Given the description of an element on the screen output the (x, y) to click on. 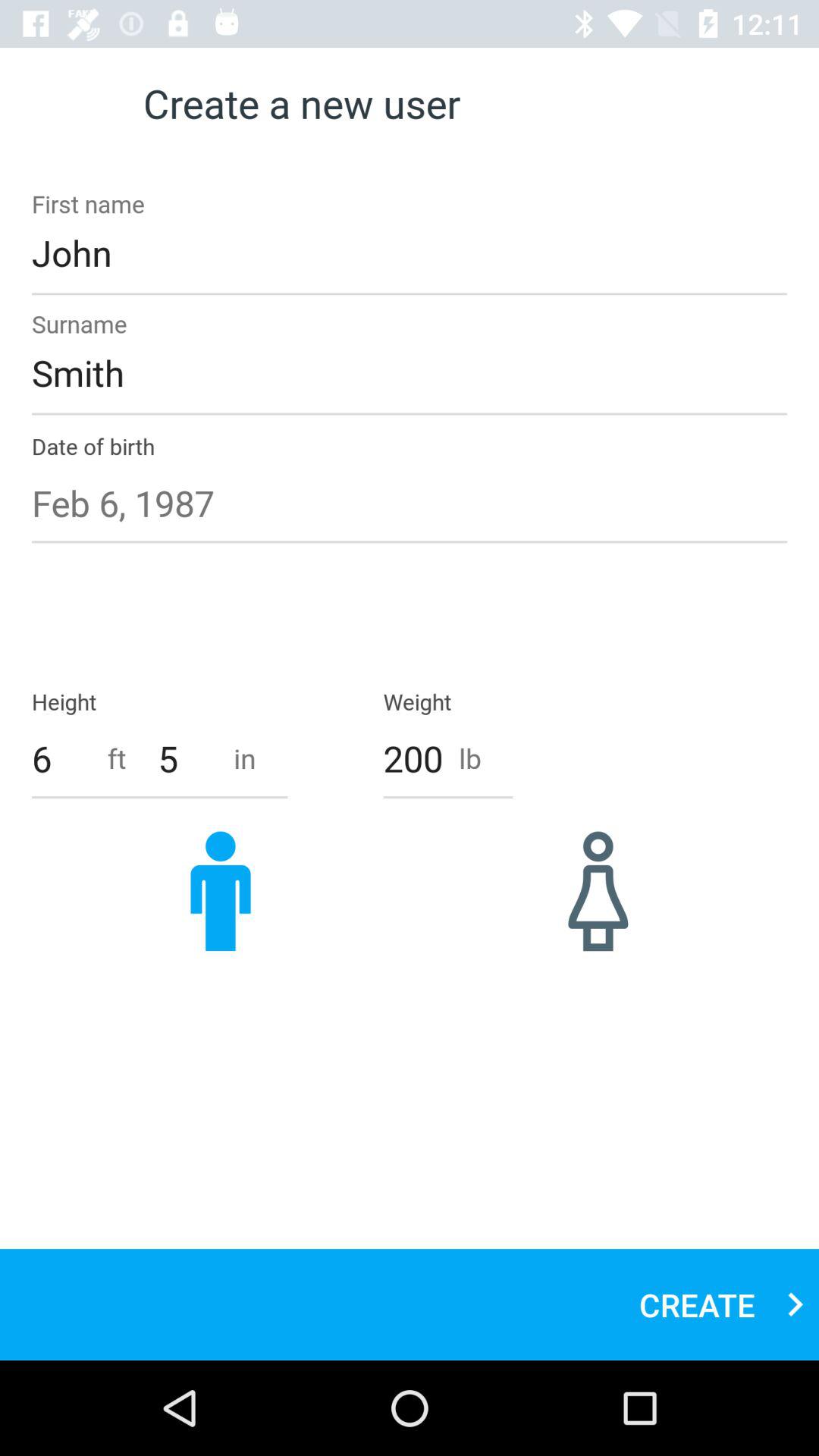
press item below 6 (220, 890)
